Given the description of an element on the screen output the (x, y) to click on. 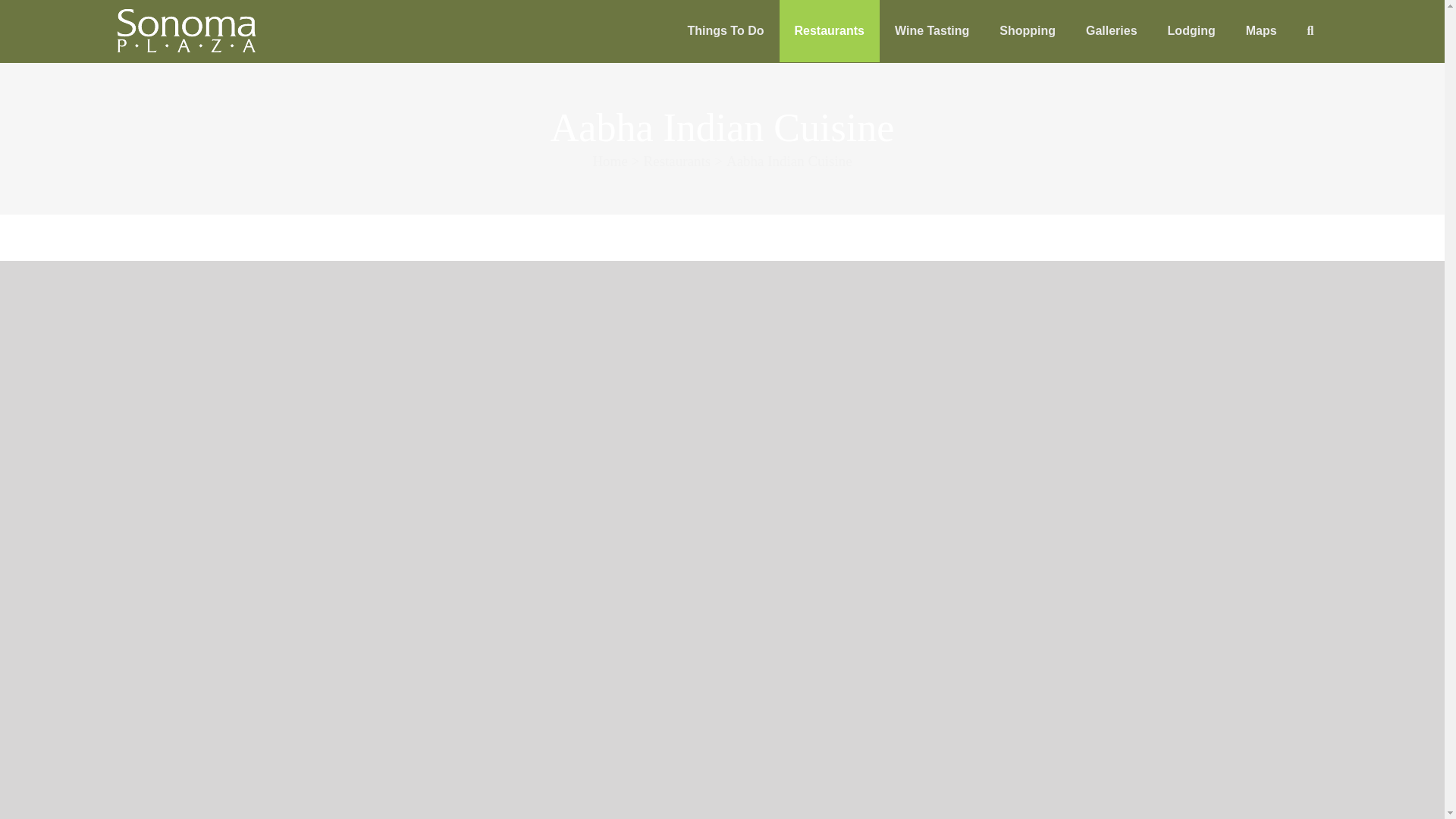
Maps (1261, 31)
Wine Tasting (931, 31)
Restaurants (828, 31)
Shopping (1027, 31)
Restaurants (677, 160)
Galleries (1111, 31)
Home (609, 160)
Lodging (1191, 31)
Things To Do (724, 31)
